Given the description of an element on the screen output the (x, y) to click on. 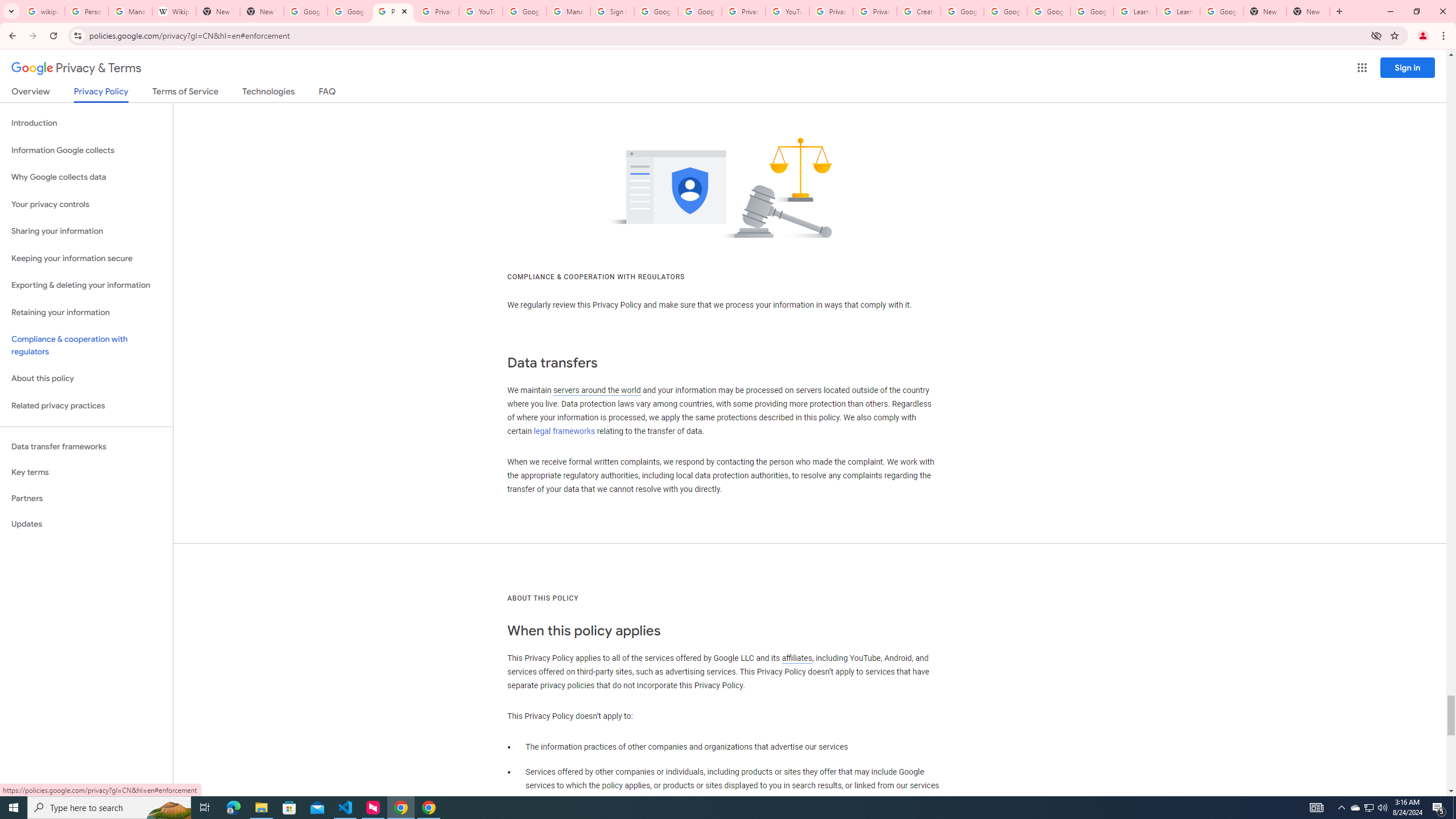
Related privacy practices (86, 405)
Google Account Help (524, 11)
affiliates (796, 657)
Retaining your information (86, 312)
servers around the world (596, 389)
Wikipedia:Edit requests - Wikipedia (173, 11)
Personalization & Google Search results - Google Search Help (86, 11)
Sharing your information (86, 230)
Terms of Service (184, 93)
